Given the description of an element on the screen output the (x, y) to click on. 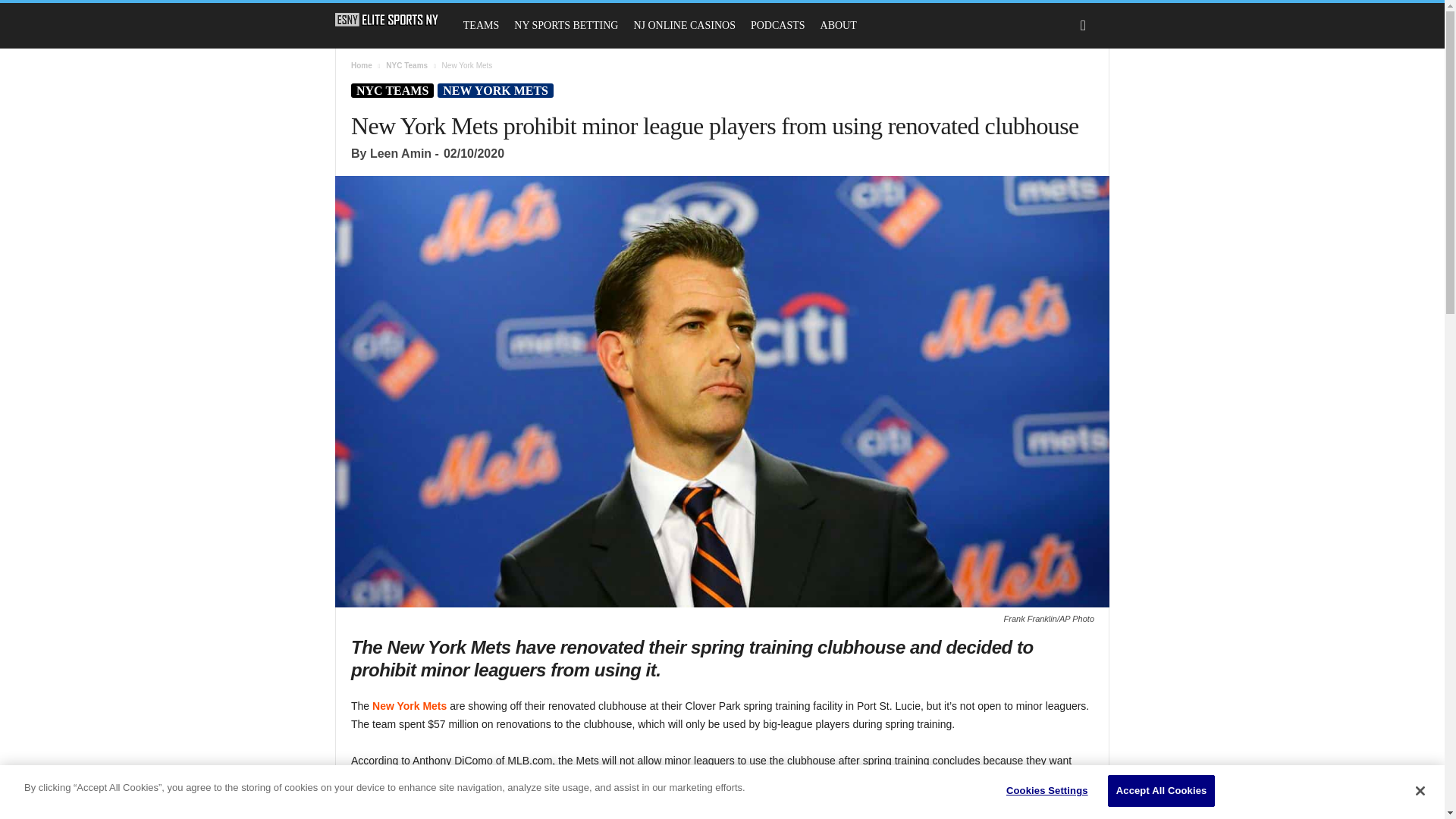
Elite Sports NY (386, 19)
TEAMS (480, 25)
Elite Sports NY (394, 19)
View all posts in NYC Teams (406, 65)
